Given the description of an element on the screen output the (x, y) to click on. 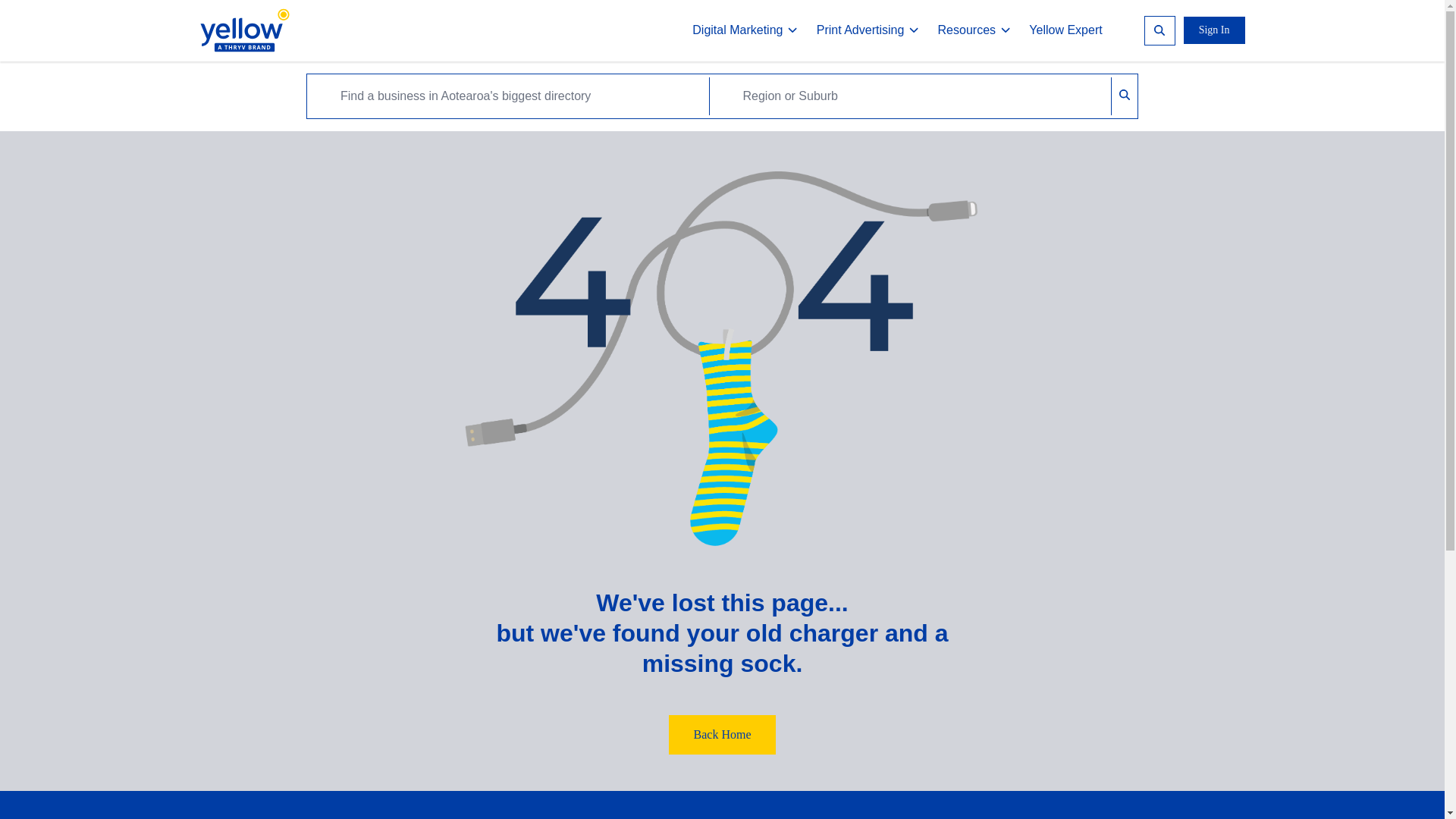
Digital Marketing (744, 29)
Resources (973, 29)
Print Advertising (867, 29)
